Given the description of an element on the screen output the (x, y) to click on. 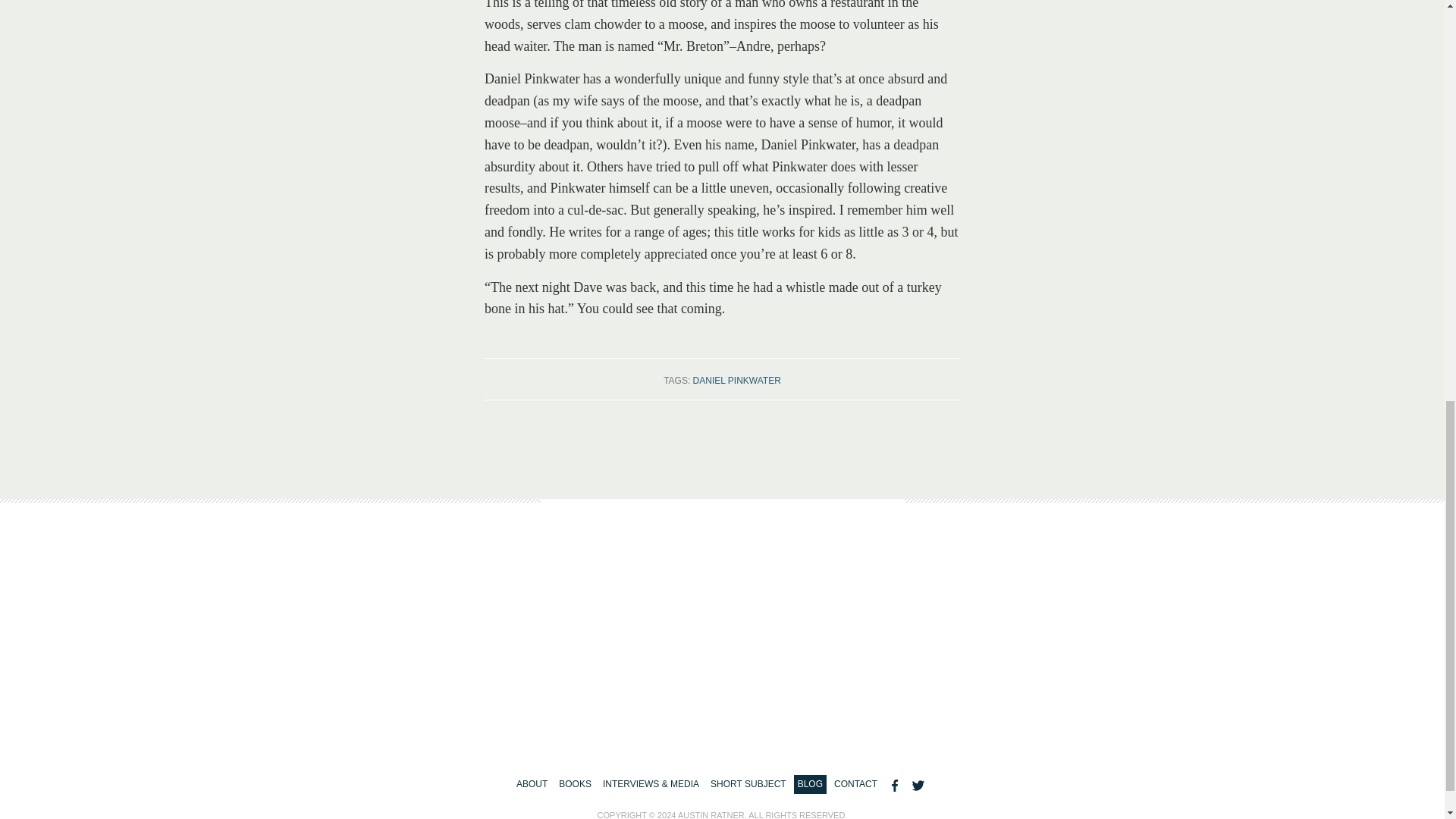
DANIEL PINKWATER (736, 380)
BOOKS (574, 783)
BLOG (810, 783)
SHORT SUBJECT (748, 783)
ABOUT (531, 783)
CONTACT (854, 783)
